Given the description of an element on the screen output the (x, y) to click on. 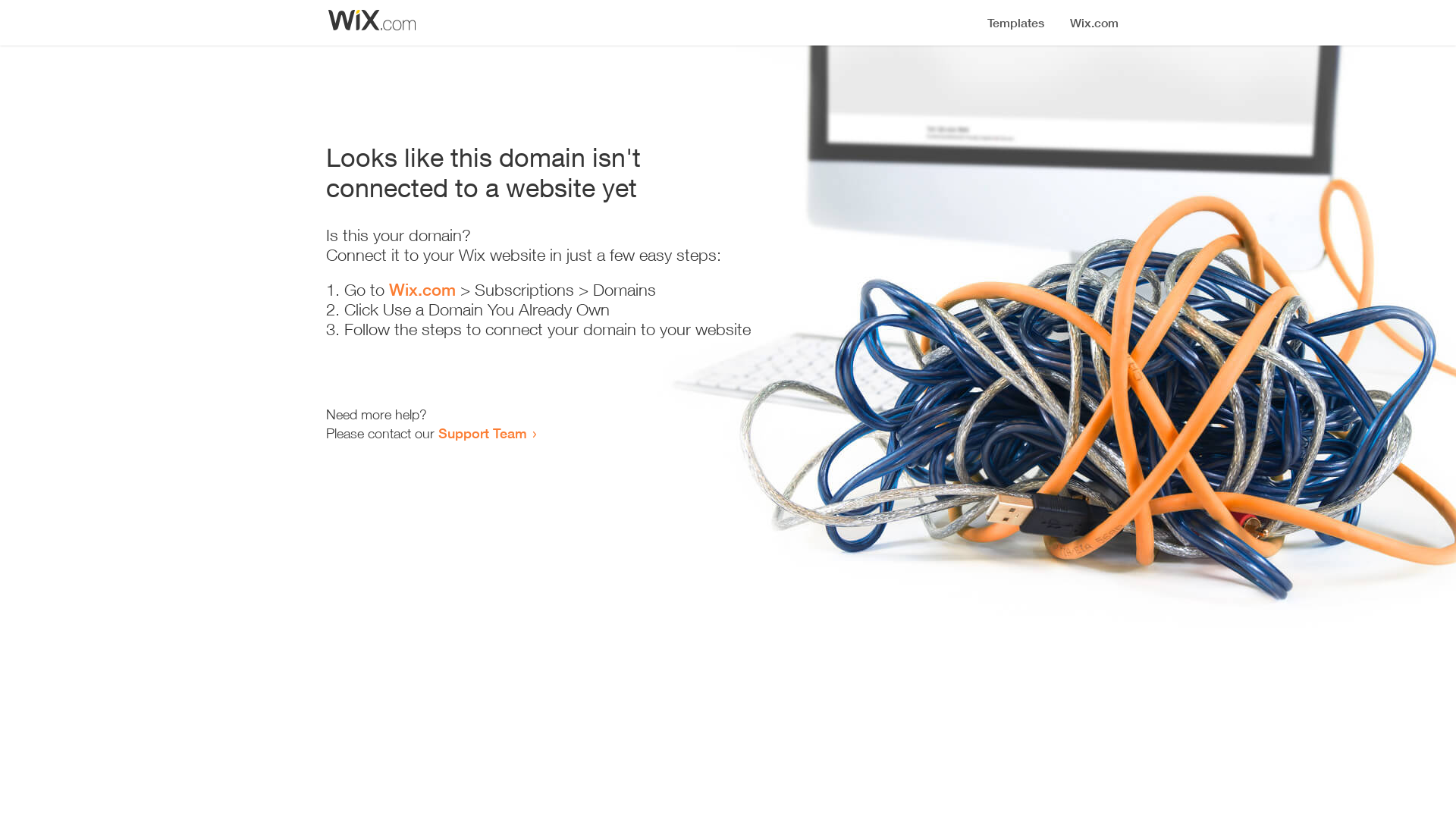
Support Team Element type: text (482, 432)
Wix.com Element type: text (422, 289)
